Given the description of an element on the screen output the (x, y) to click on. 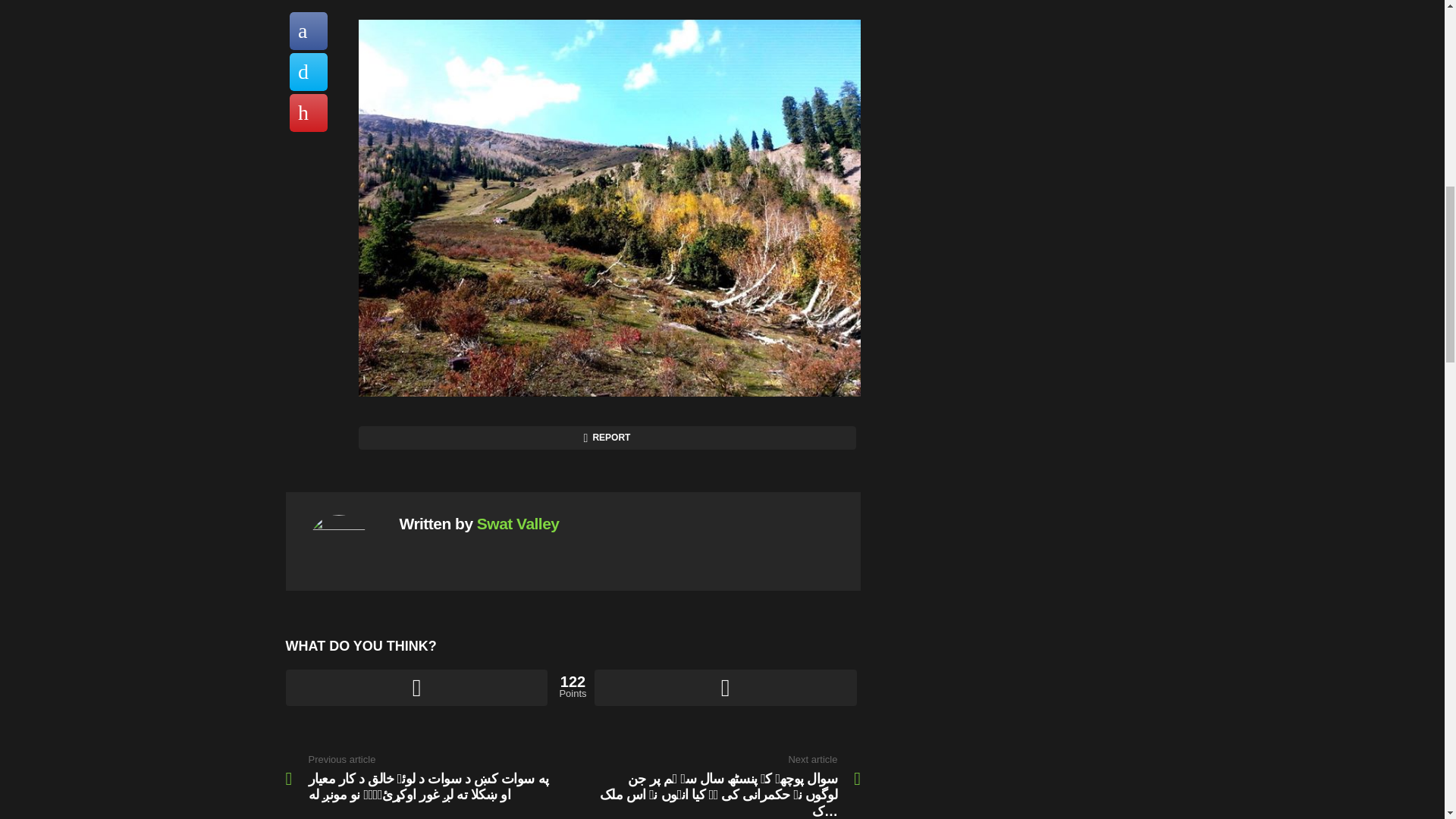
Upvote (416, 687)
Downvote (725, 687)
